Given the description of an element on the screen output the (x, y) to click on. 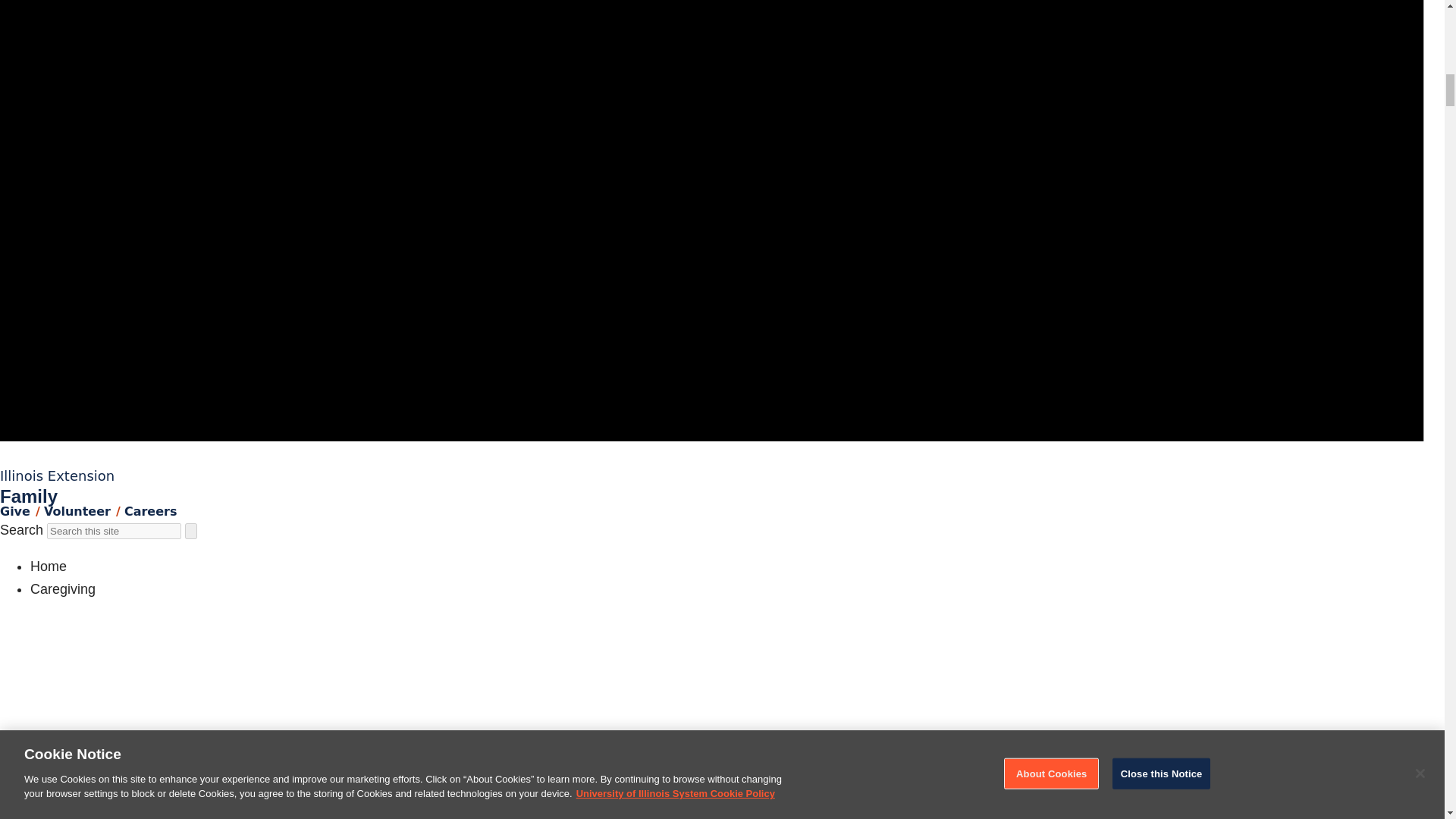
Give (15, 511)
Family (29, 496)
Illinois Extension (57, 475)
Caregiving (63, 589)
Volunteer (76, 511)
Home (48, 566)
Careers (150, 511)
